Given the description of an element on the screen output the (x, y) to click on. 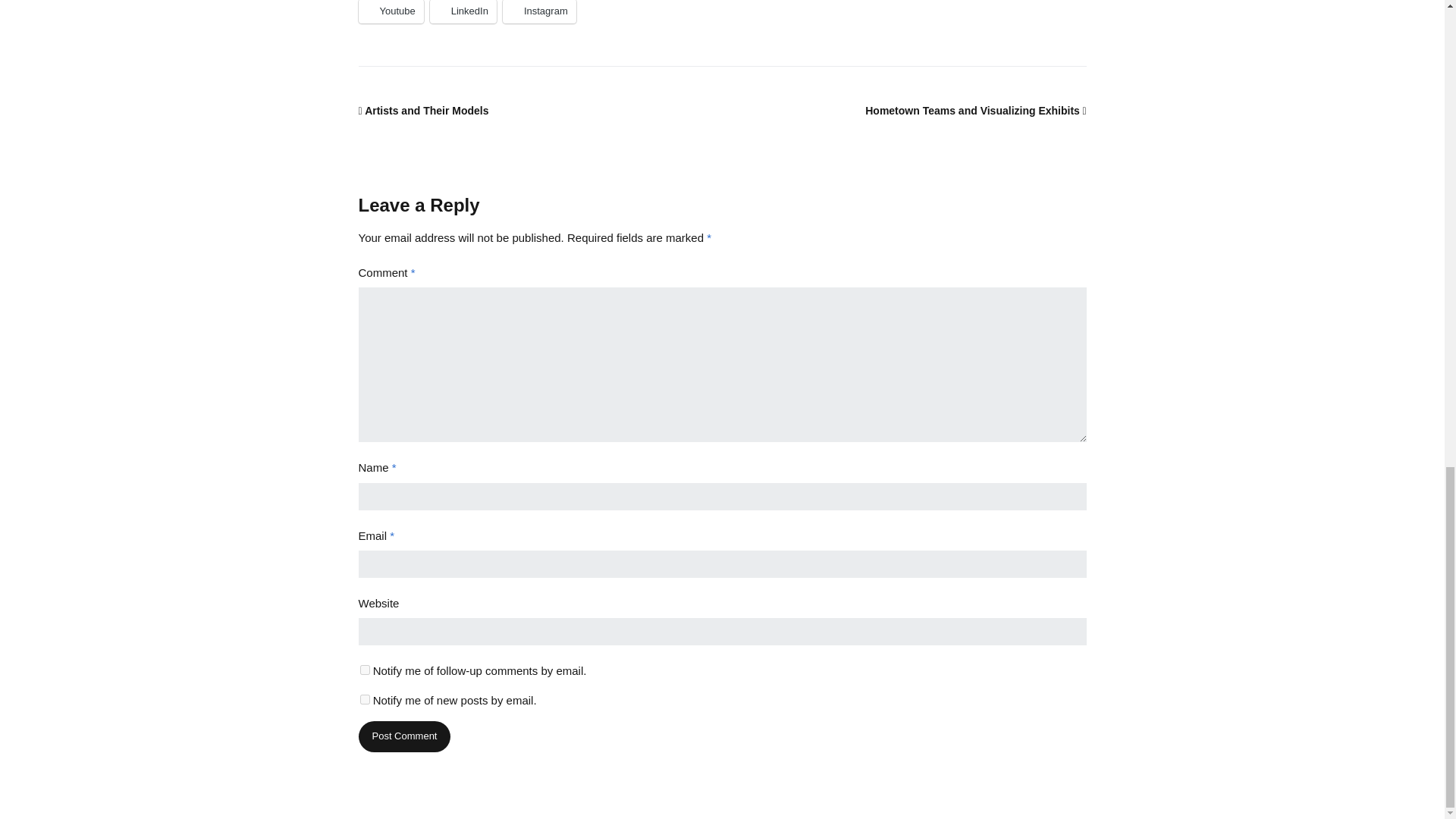
Instagram (539, 11)
Post Comment (403, 736)
Youtube (390, 11)
subscribe (364, 669)
Click to share on Youtube (390, 11)
Hometown Teams and Visualizing Exhibits (975, 110)
Post Comment (403, 736)
Click to share on LinkedIn (462, 11)
LinkedIn (462, 11)
Artists and Their Models (422, 110)
